Given the description of an element on the screen output the (x, y) to click on. 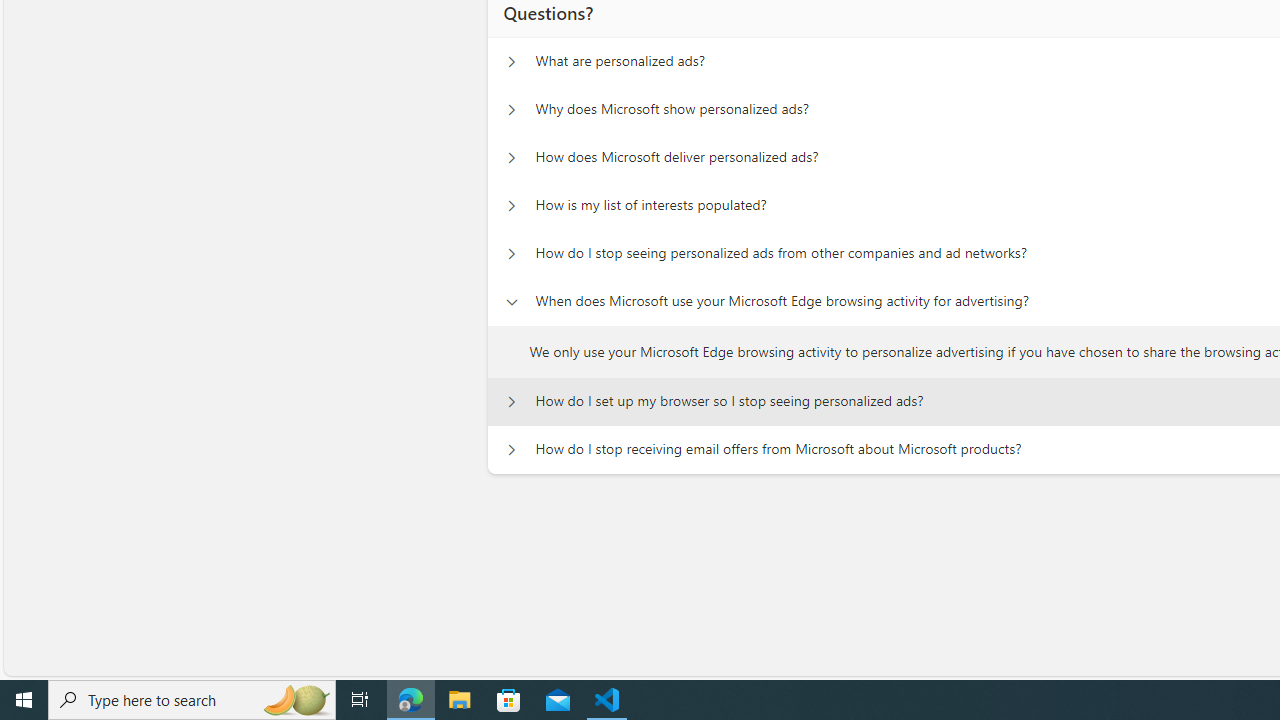
Questions? What are personalized ads? (511, 62)
Questions? Why does Microsoft show personalized ads? (511, 110)
Questions? How is my list of interests populated? (511, 206)
Questions? How does Microsoft deliver personalized ads? (511, 157)
